Given the description of an element on the screen output the (x, y) to click on. 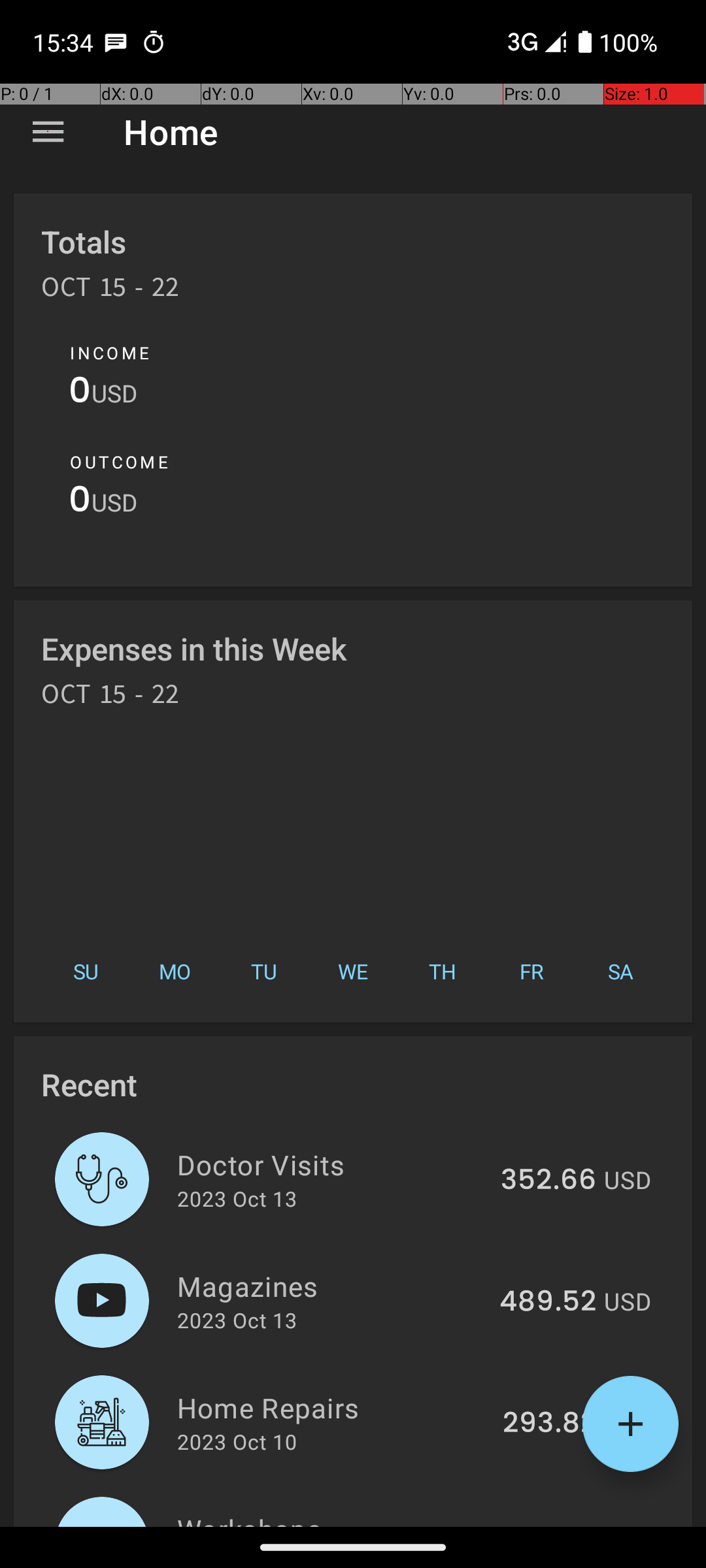
352.66 Element type: android.widget.TextView (548, 1180)
489.52 Element type: android.widget.TextView (547, 1301)
293.82 Element type: android.widget.TextView (549, 1423)
Workshops Element type: android.widget.TextView (333, 1518)
418.89 Element type: android.widget.TextView (550, 1524)
